Given the description of an element on the screen output the (x, y) to click on. 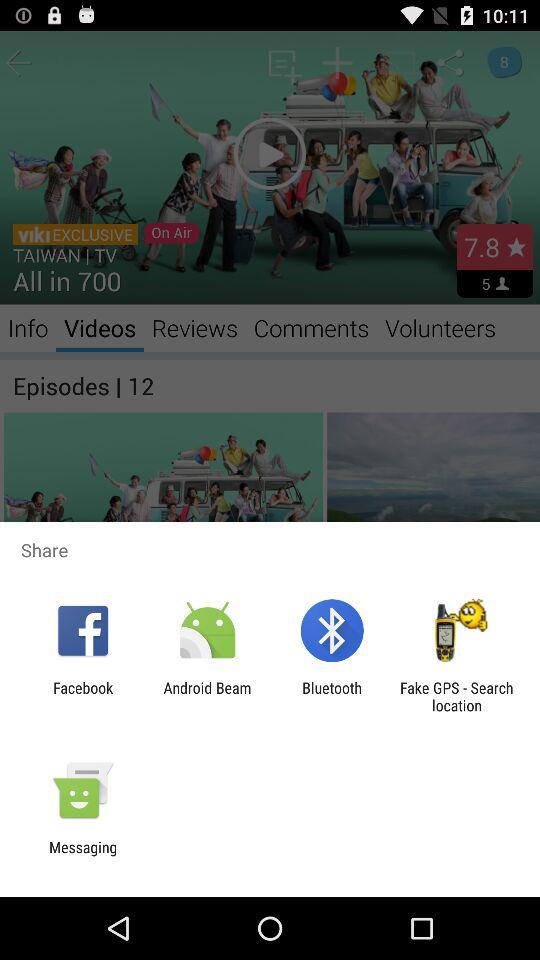
launch the item to the right of the facebook item (207, 696)
